Given the description of an element on the screen output the (x, y) to click on. 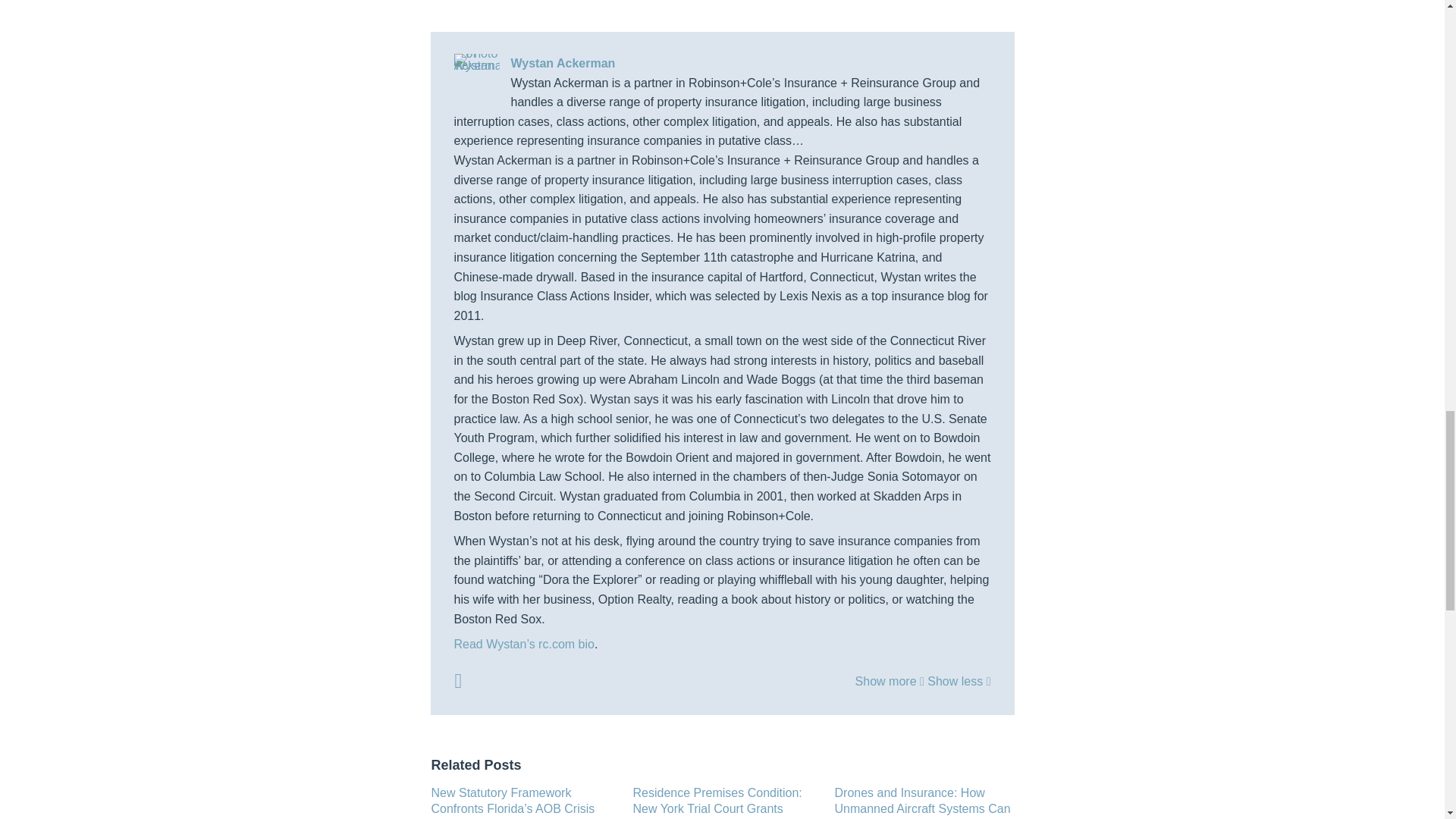
Read more about Wystan Ackerman (458, 680)
Show less (958, 680)
Show more (890, 680)
Wystan Ackerman (721, 63)
